Given the description of an element on the screen output the (x, y) to click on. 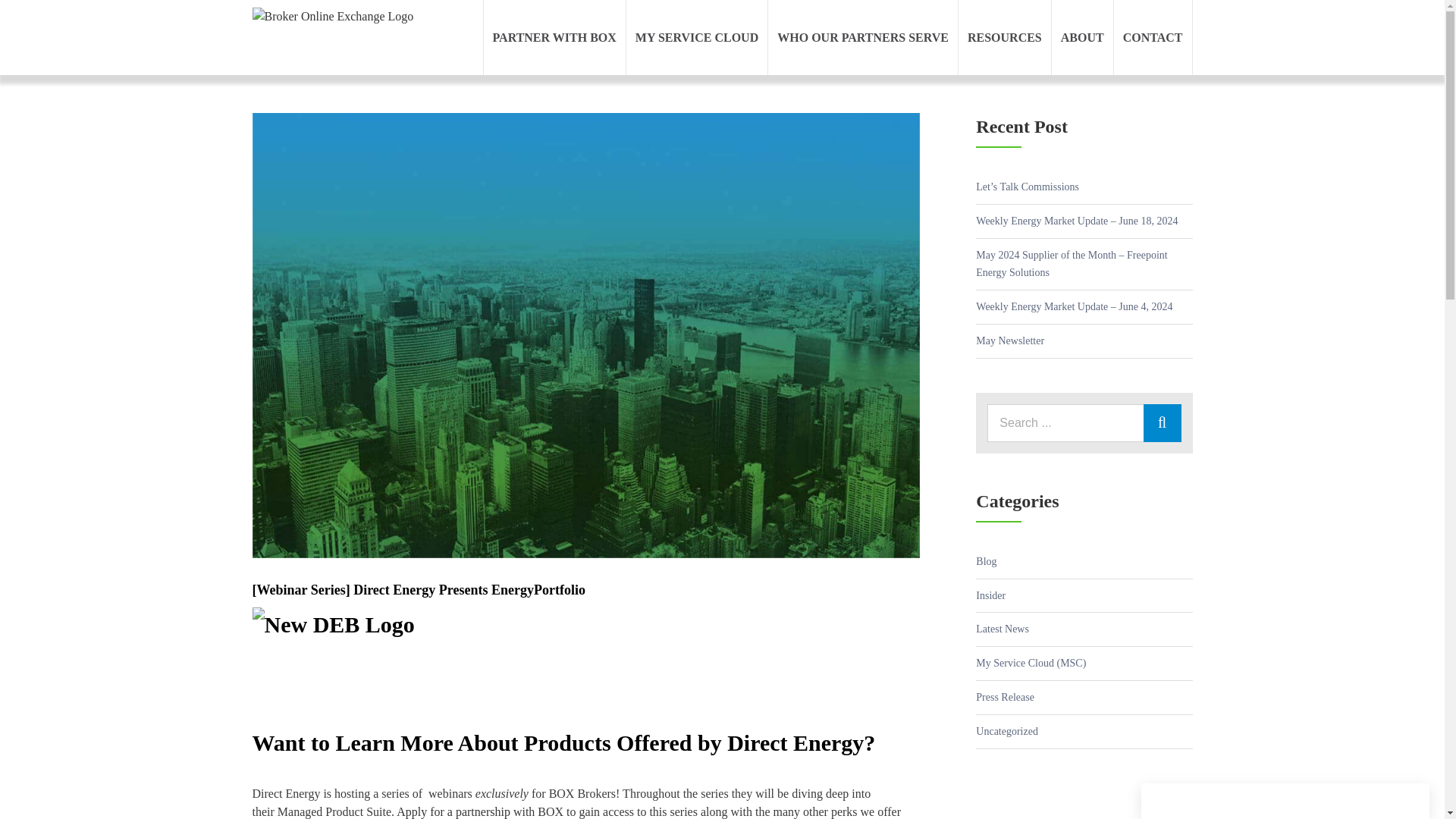
ABOUT (1082, 37)
CONTACT (1152, 37)
RESOURCES (1004, 37)
PARTNER WITH BOX (554, 37)
WHO OUR PARTNERS SERVE (863, 37)
MY SERVICE CLOUD (696, 37)
